Given the description of an element on the screen output the (x, y) to click on. 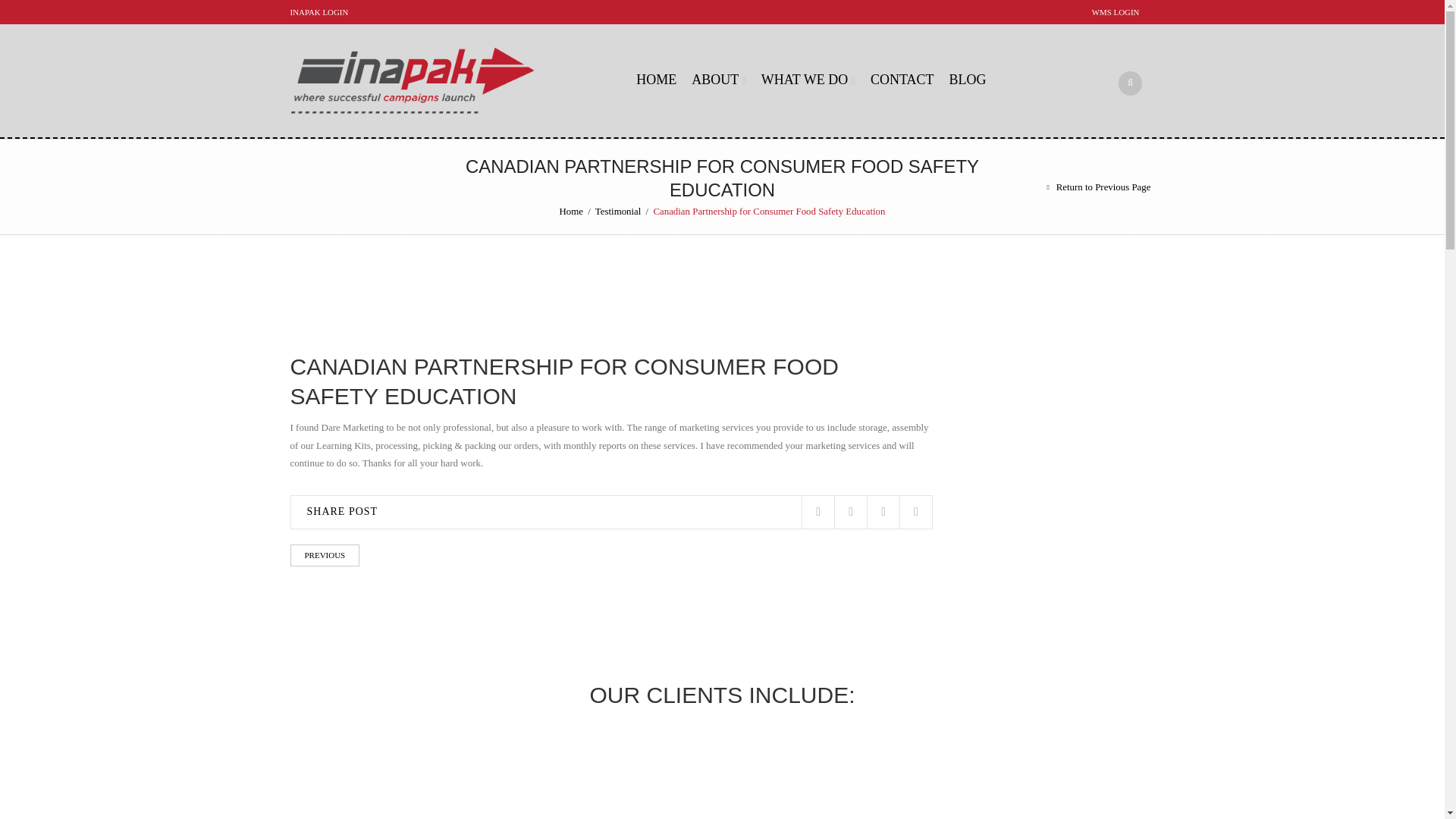
Facebook (850, 512)
Pinterest (882, 512)
Mail to friend (915, 512)
Twitter (818, 512)
Awake Chocolate (721, 774)
